Given the description of an element on the screen output the (x, y) to click on. 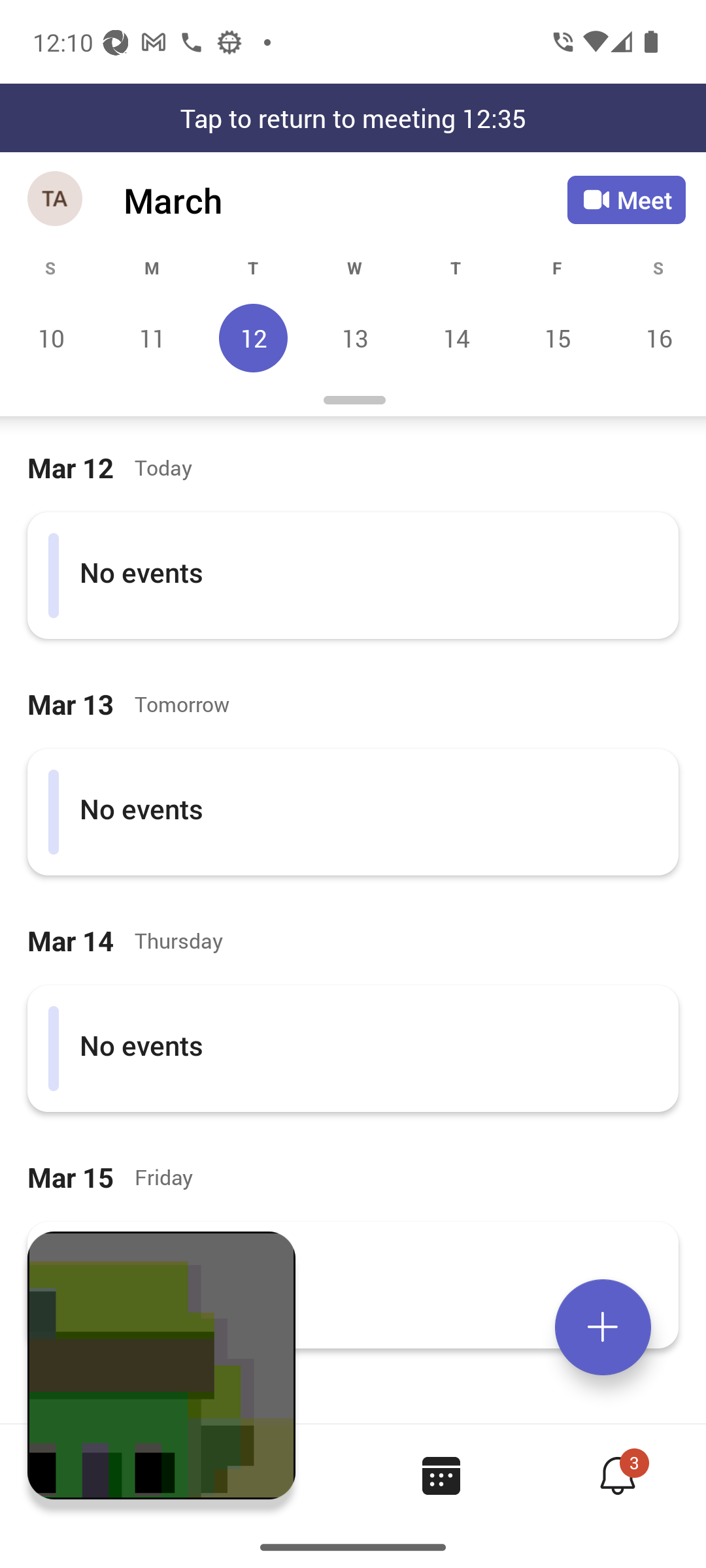
Tap to return to meeting 12:34 (353, 117)
Navigation (56, 199)
Meet Meet now or join with an ID (626, 199)
March March Calendar Agenda View (345, 199)
Sunday, March 10 10 (50, 337)
Monday, March 11 11 (151, 337)
Tuesday, March 12, Today, Selected 12 (253, 337)
Wednesday, March 13 13 (354, 337)
Thursday, March 14 14 (455, 337)
Friday, March 15 15 (556, 337)
Saturday, March 16 16 (656, 337)
Expand meetings menu (602, 1327)
Calendar tab, 3 of 4 (441, 1475)
Activity tab,4 of 4, not selected, 3 new 3 (617, 1475)
